Given the description of an element on the screen output the (x, y) to click on. 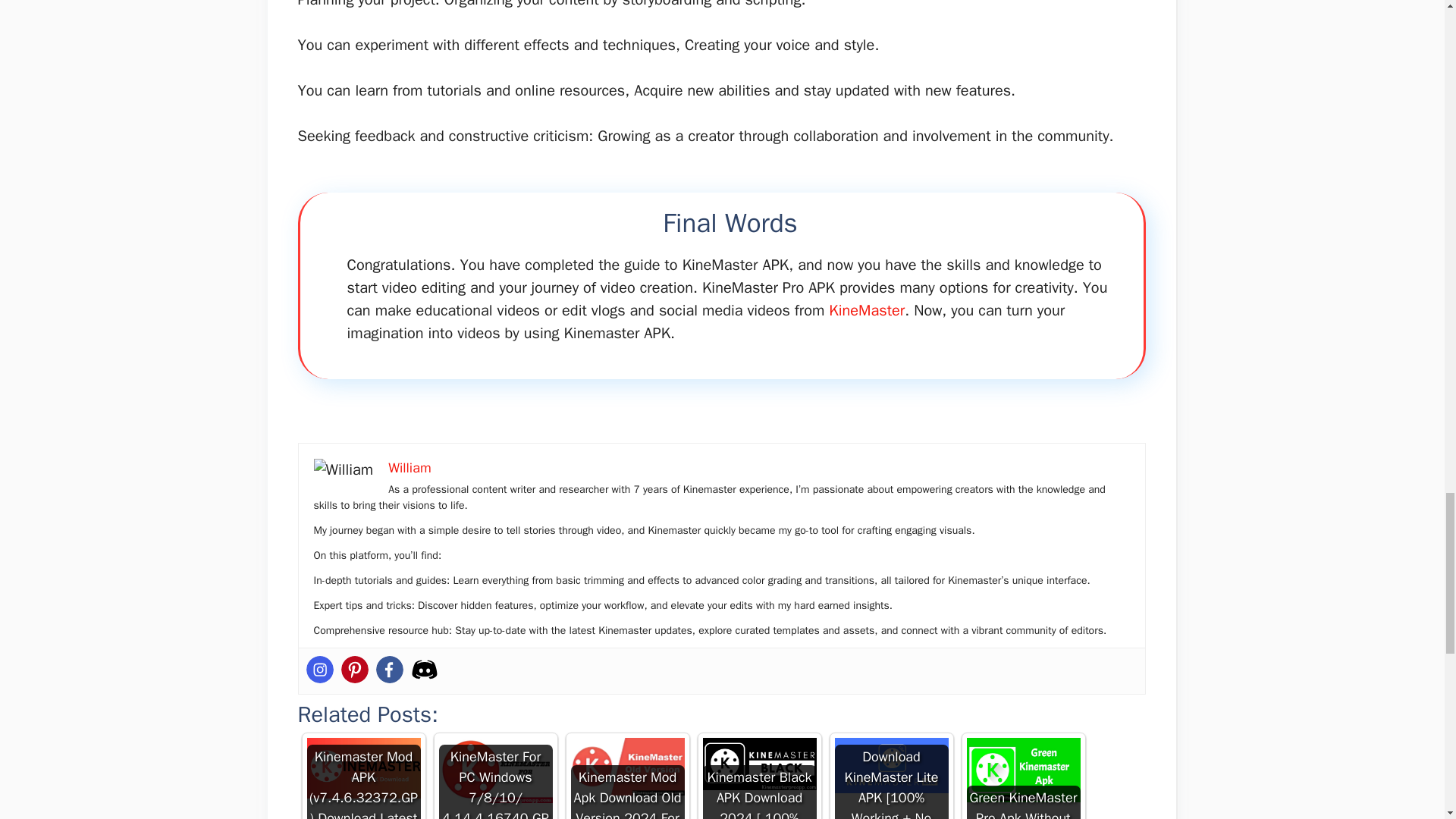
Pinterest (354, 669)
Instagram (319, 669)
